Given the description of an element on the screen output the (x, y) to click on. 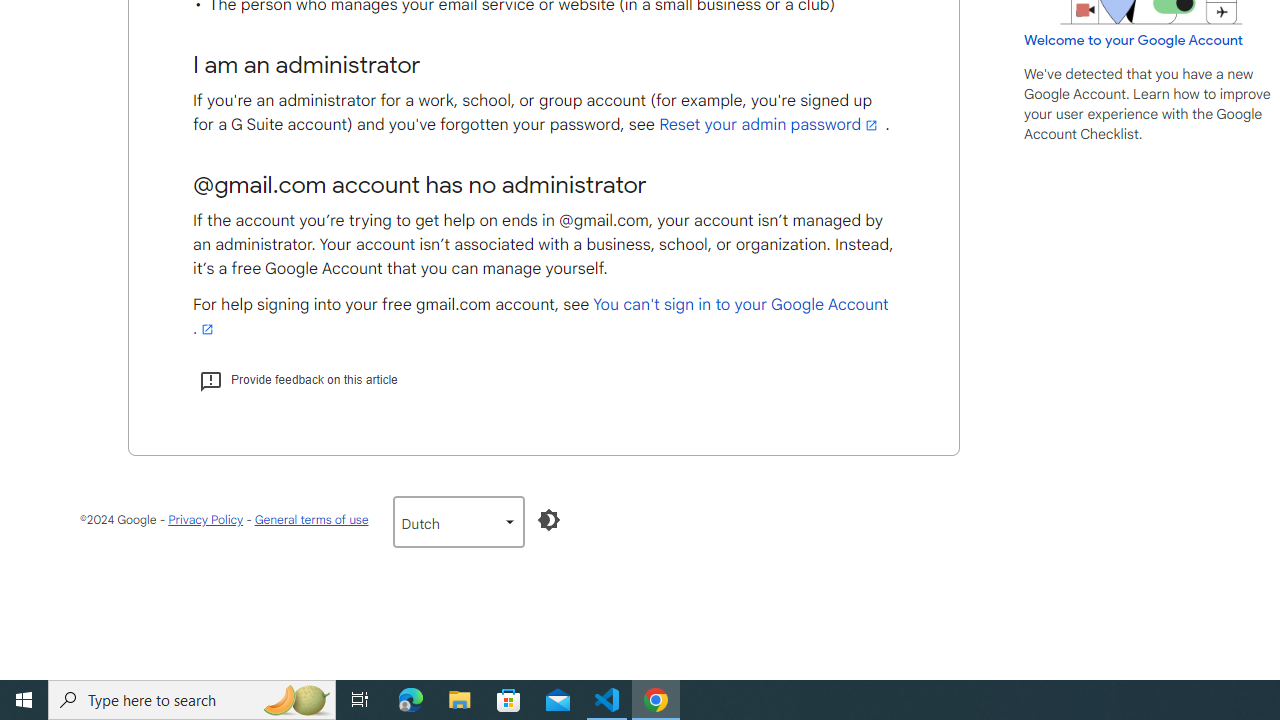
You can't sign in to your Google Account . (541, 317)
Welcome to your Google Account (1134, 39)
General terms of use (310, 519)
Enable dark mode (548, 520)
Provide feedback on this article (298, 379)
Reset your admin password (770, 125)
